Given the description of an element on the screen output the (x, y) to click on. 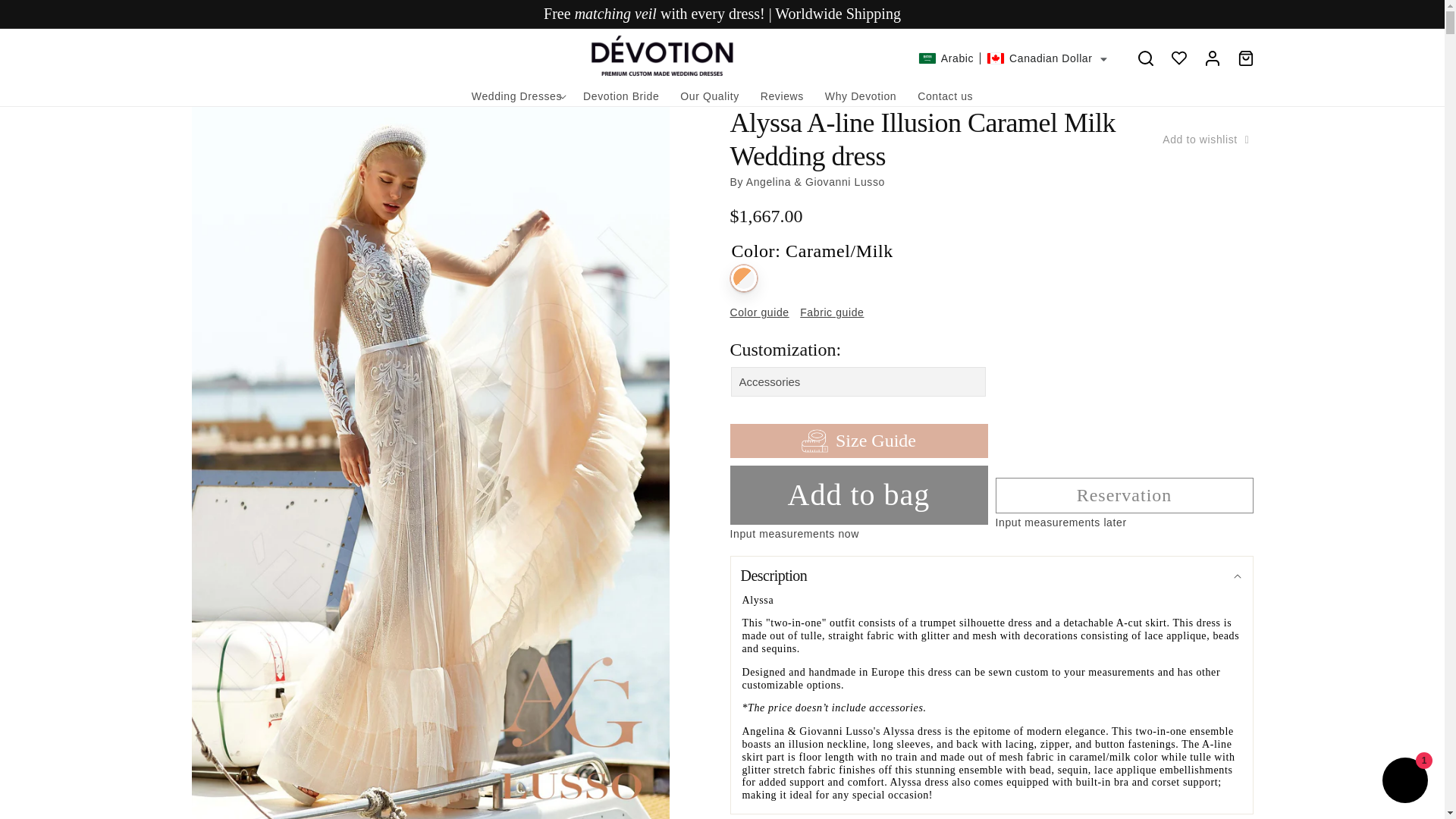
Skip to content (45, 17)
Shopify online store chat (1404, 781)
